Given the description of an element on the screen output the (x, y) to click on. 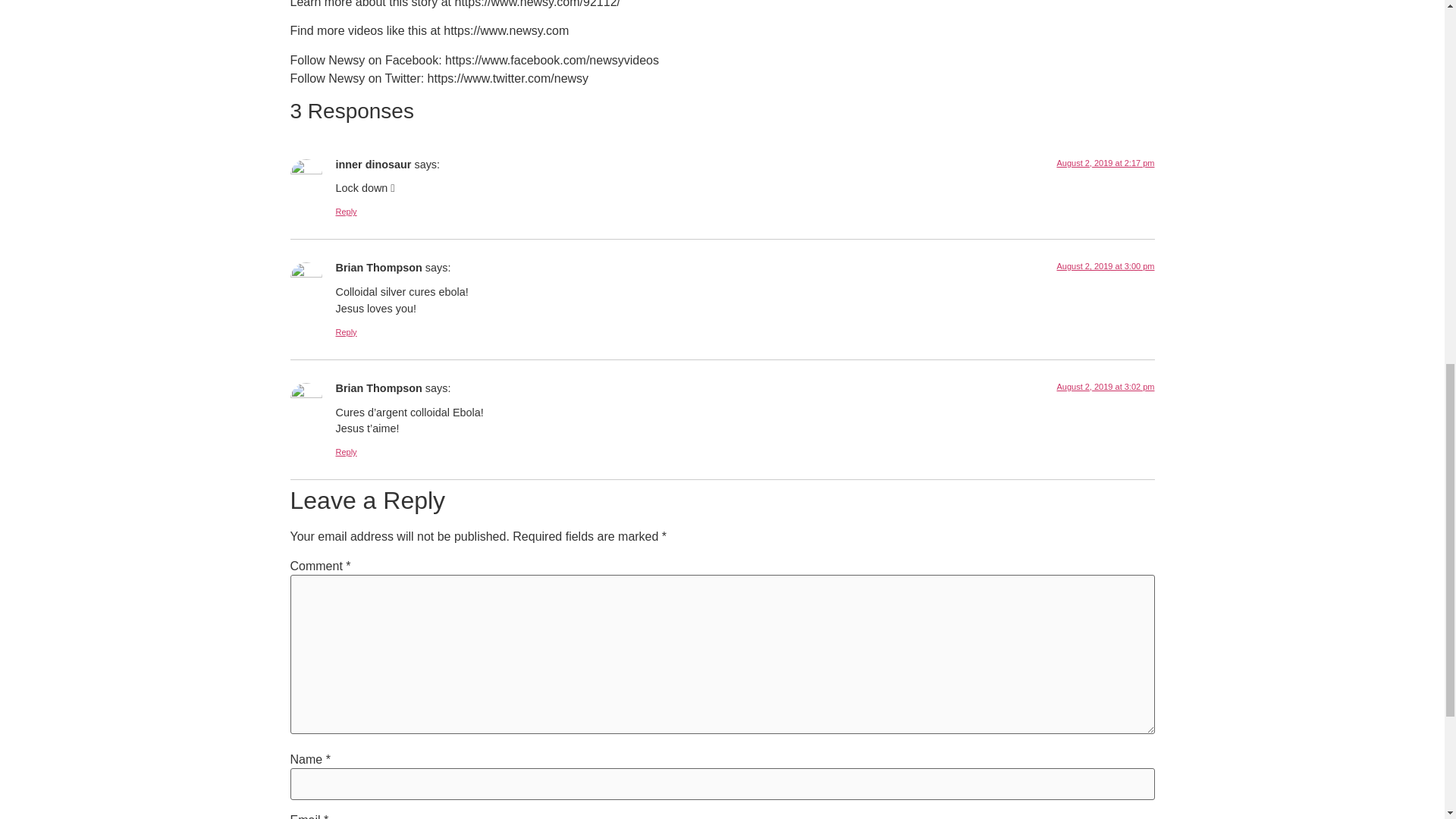
August 2, 2019 at 3:02 pm (1105, 386)
Reply (345, 451)
August 2, 2019 at 3:00 pm (1105, 266)
August 2, 2019 at 2:17 pm (1105, 162)
Reply (345, 211)
Reply (345, 331)
